Given the description of an element on the screen output the (x, y) to click on. 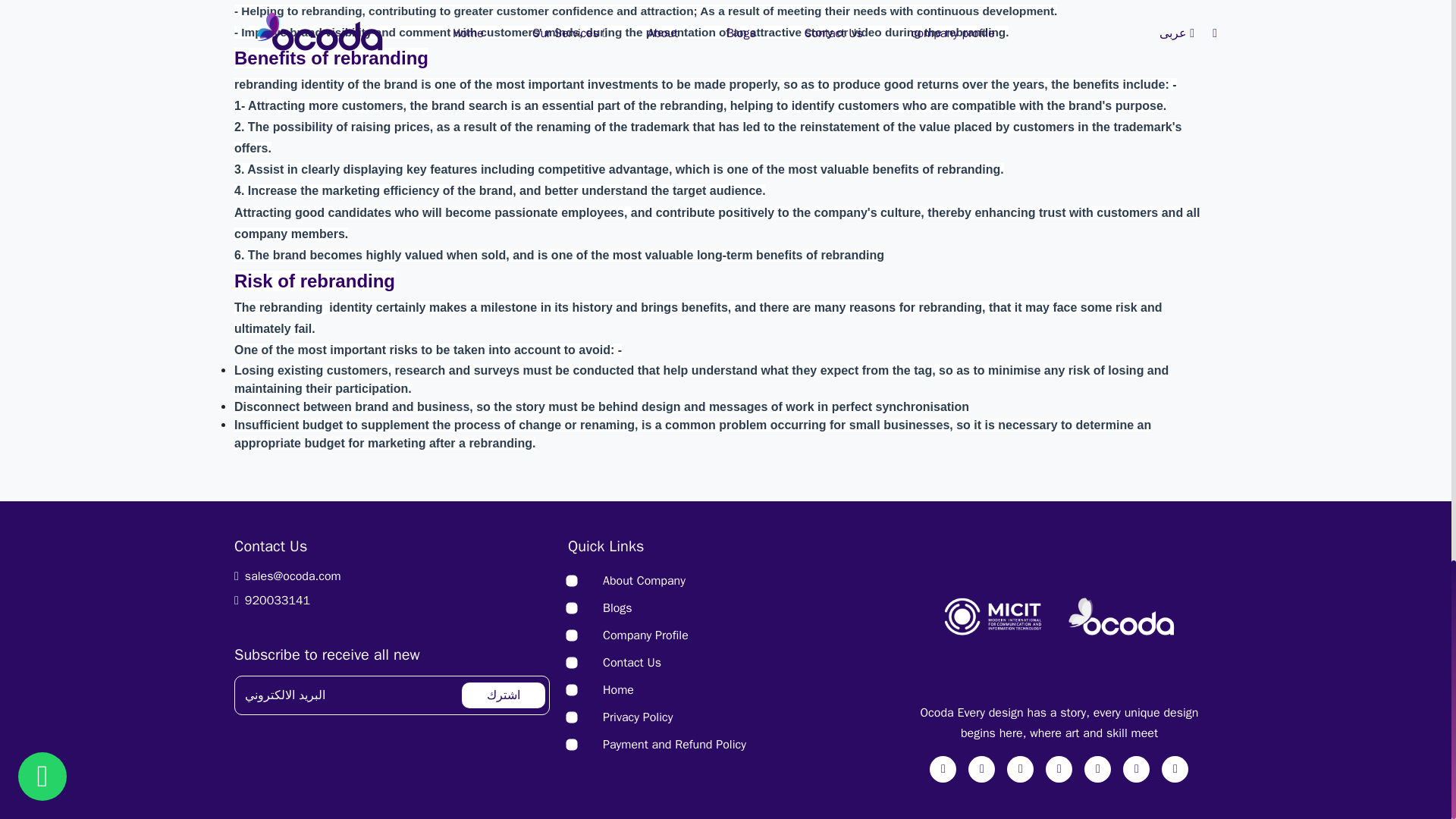
Home (617, 689)
Company Profile (645, 635)
Privacy Policy (637, 717)
920033141 (392, 600)
Blogs (616, 607)
Ocoda - Design Services - Marketing Services Behance (1174, 768)
Ocoda - Design Services - Marketing Services youtube (1058, 768)
Ocoda - Design Services - Marketing Services viemo (1097, 768)
Ocoda - Design Services - Marketing Services instagram (981, 768)
About Company (643, 580)
